Given the description of an element on the screen output the (x, y) to click on. 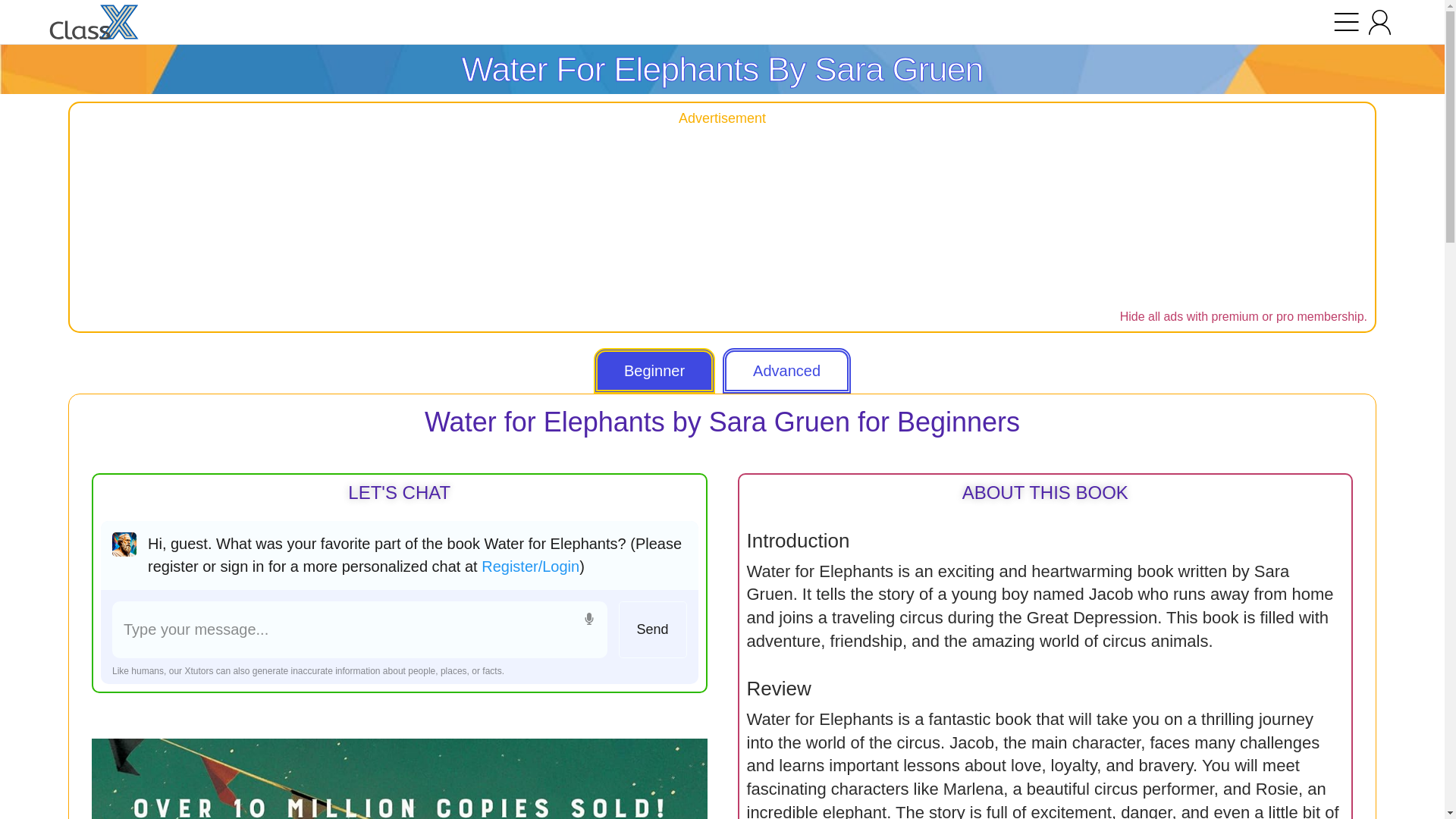
ClassX Logo (93, 22)
Advanced (786, 370)
Hide all ads with premium or pro membership. (1243, 316)
Beginner (654, 370)
Send (652, 629)
